Given the description of an element on the screen output the (x, y) to click on. 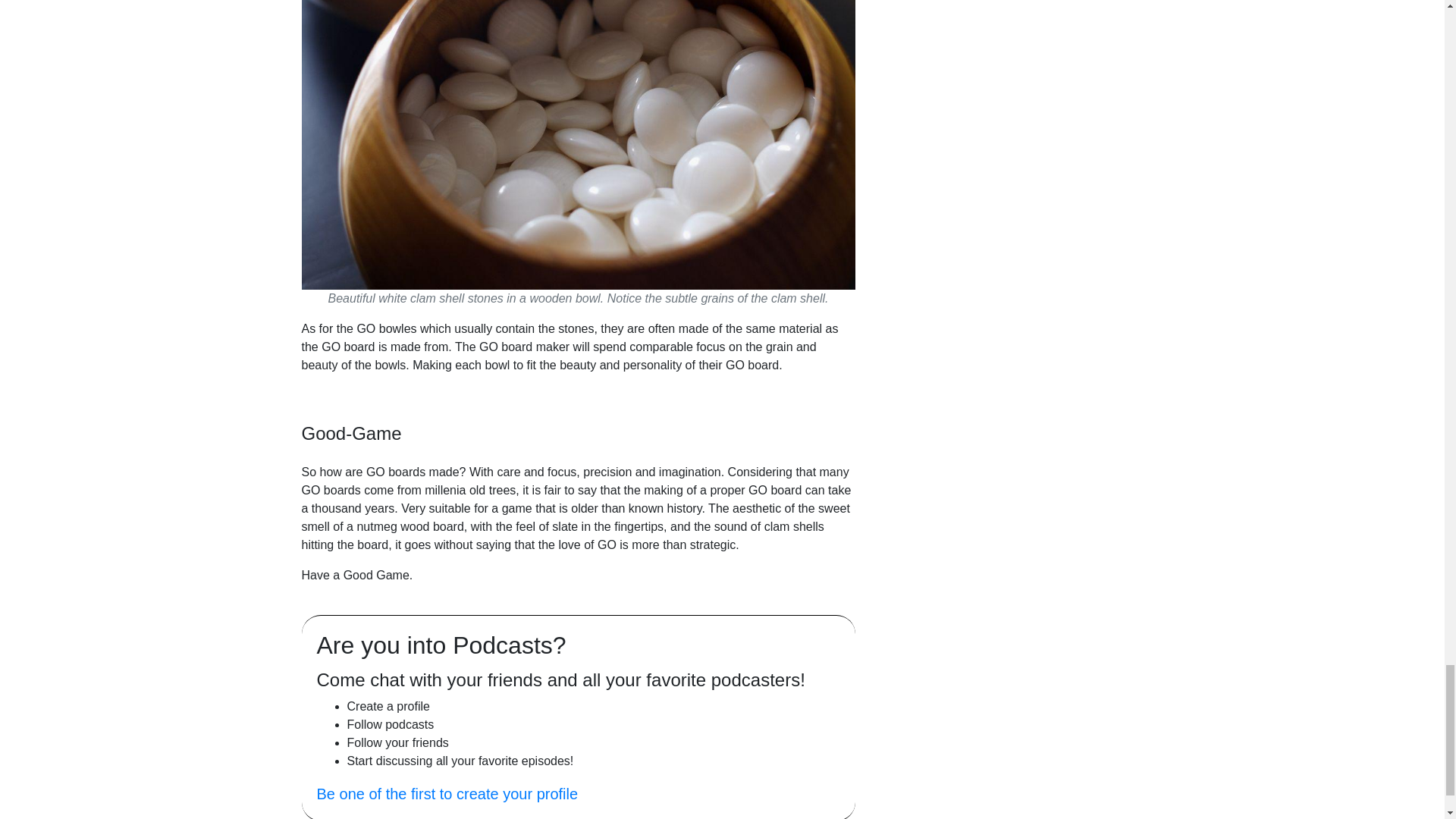
Be one of the first to create your profile (447, 793)
